Given the description of an element on the screen output the (x, y) to click on. 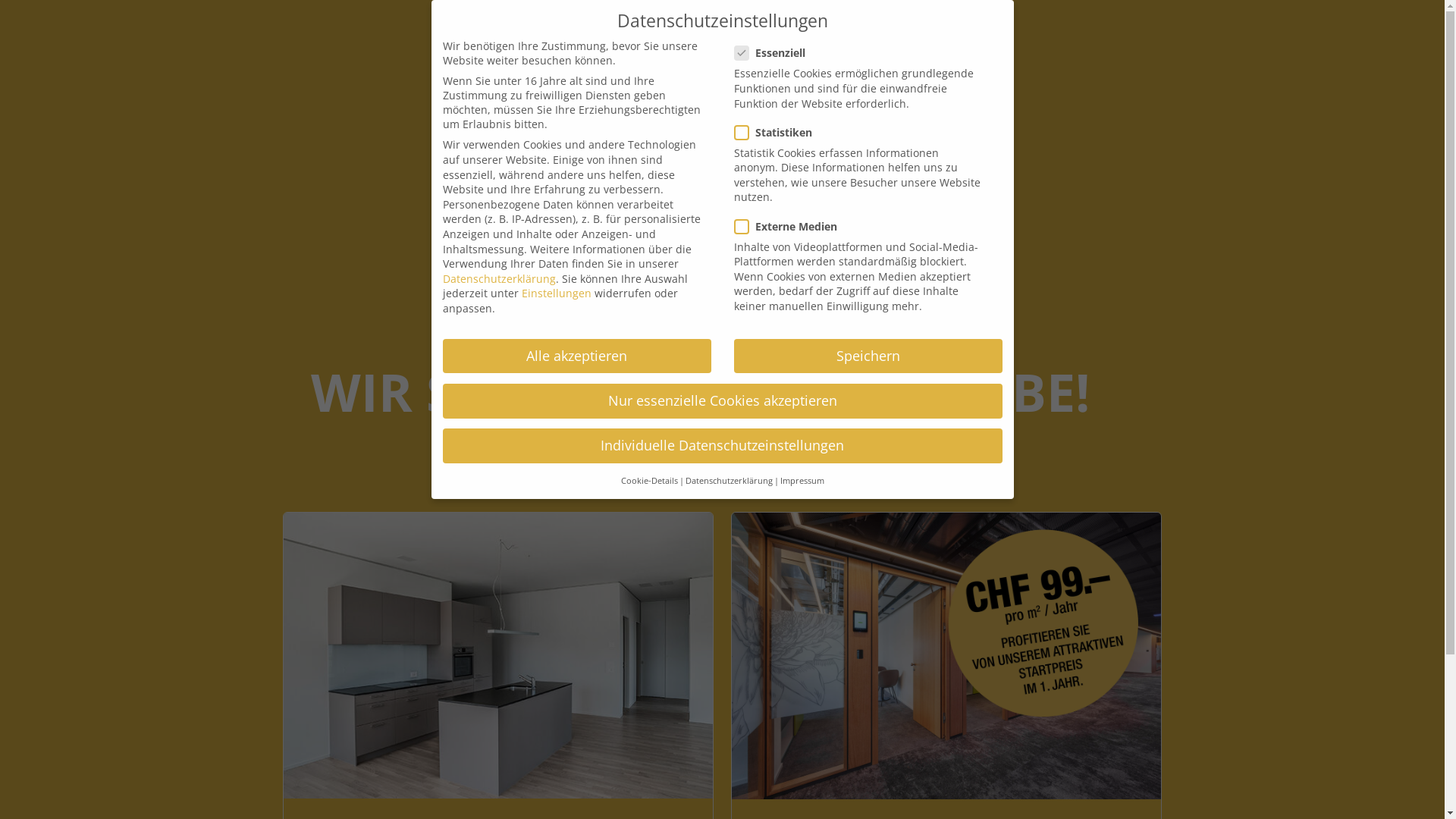
Individuelle Datenschutzeinstellungen Element type: text (722, 445)
Nur essenzielle Cookies akzeptieren Element type: text (722, 400)
Alle akzeptieren Element type: text (576, 355)
Speichern Element type: text (868, 355)
Impressum Element type: text (801, 480)
Einstellungen Element type: text (556, 292)
Cookie-Details Element type: text (648, 480)
